Given the description of an element on the screen output the (x, y) to click on. 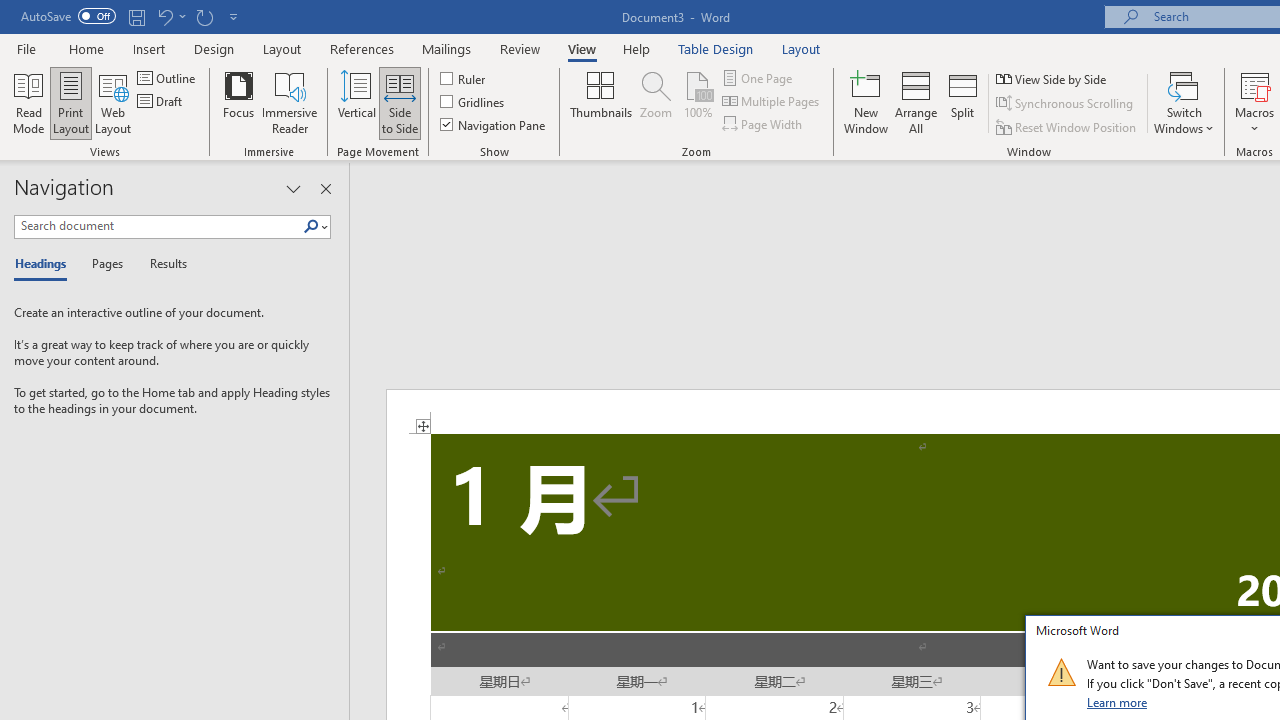
Immersive Reader (289, 102)
Multiple Pages (772, 101)
Split (963, 102)
Navigation Pane (493, 124)
View Side by Side (1053, 78)
Thumbnails (601, 102)
